Given the description of an element on the screen output the (x, y) to click on. 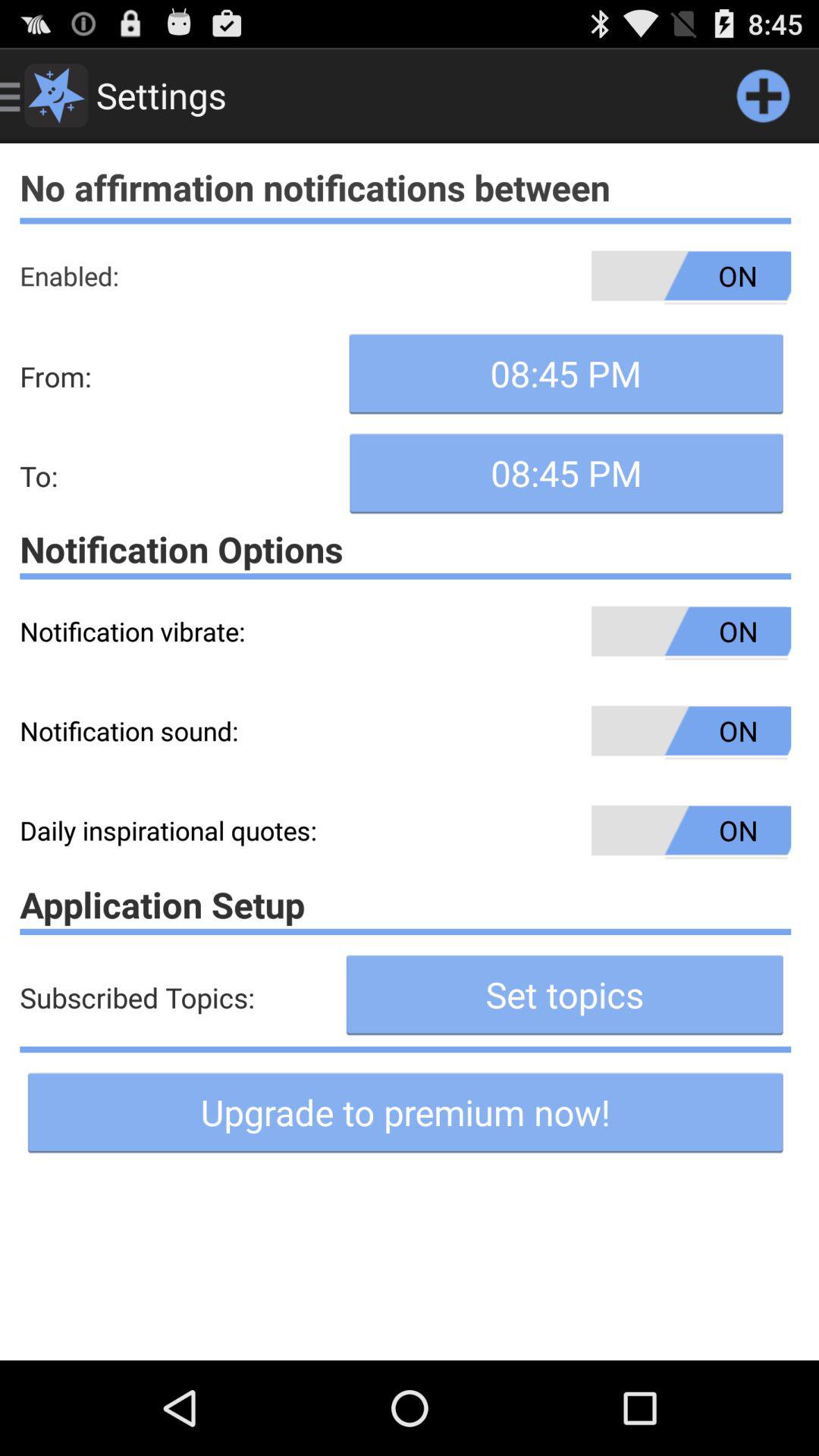
plus mark (763, 95)
